Given the description of an element on the screen output the (x, y) to click on. 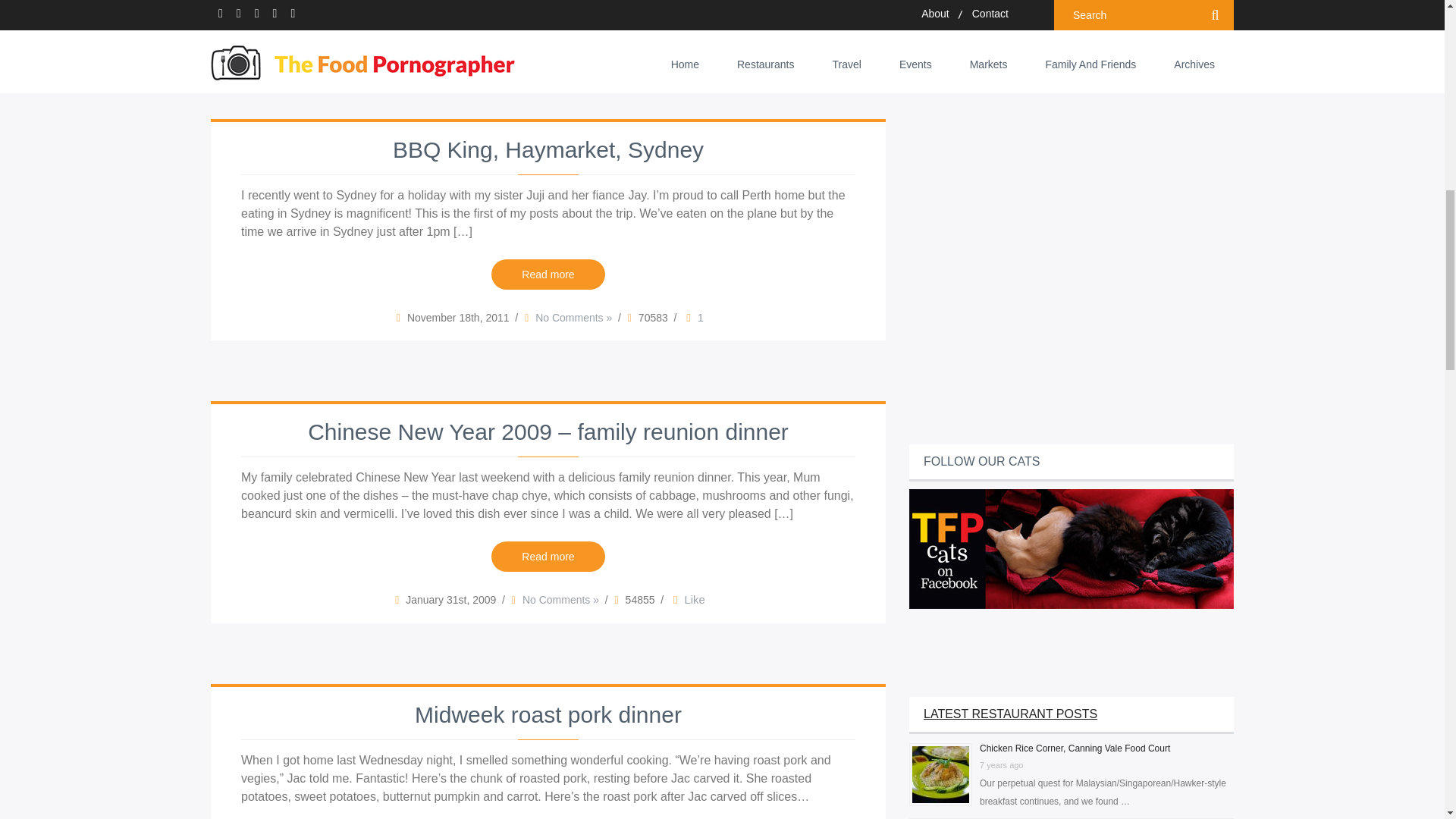
 Like (686, 599)
Read more (548, 556)
Like (686, 599)
BBQ King, Haymarket, Sydney (548, 150)
Read more (548, 3)
Midweek roast pork dinner (547, 715)
Like (692, 317)
Read more (548, 274)
 1 (692, 317)
Like (677, 35)
 17 (677, 35)
Permanent Link to BBQ King, Haymarket, Sydney (548, 150)
Permanent Link to Midweek roast pork dinner (547, 715)
